Given the description of an element on the screen output the (x, y) to click on. 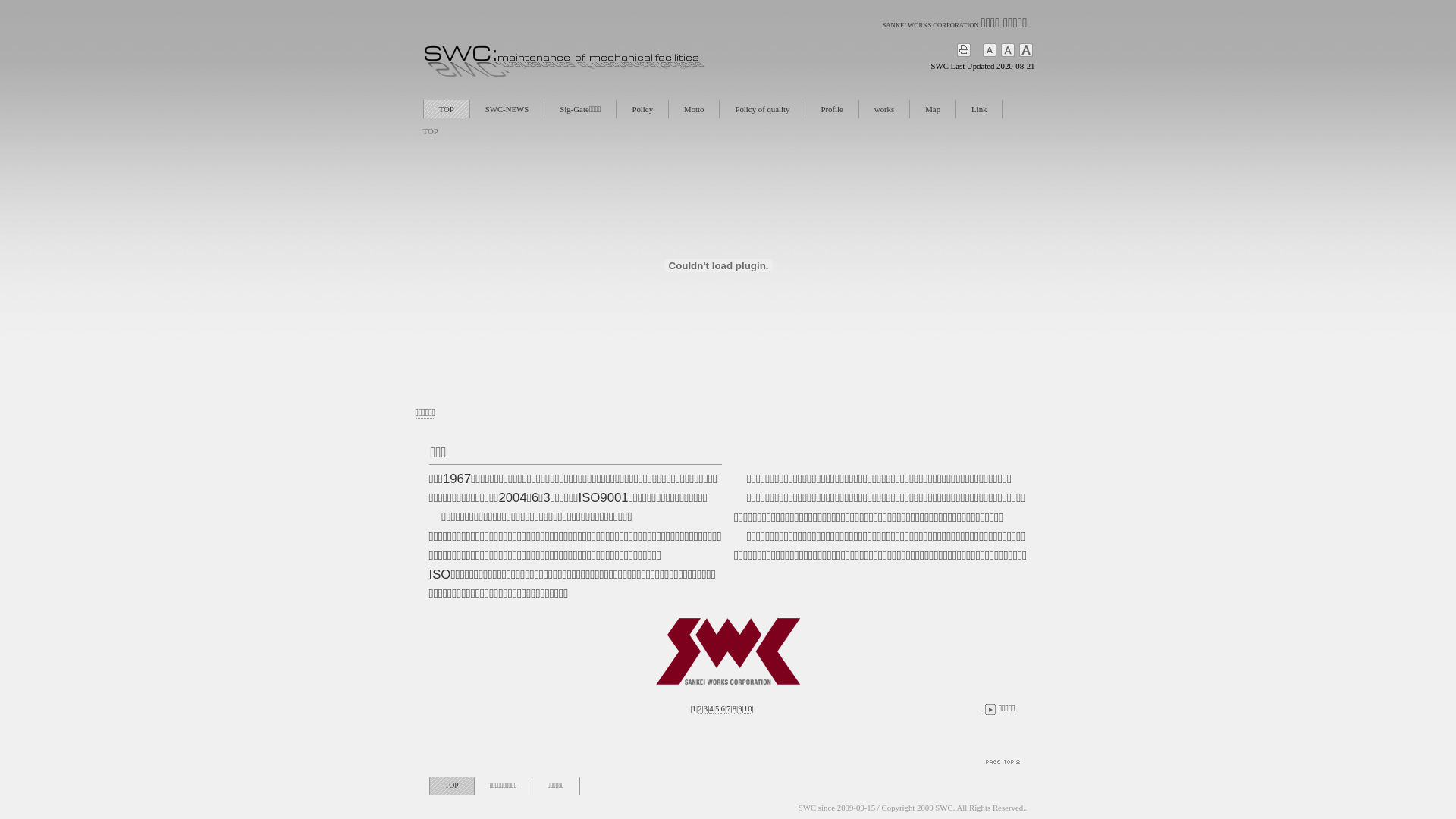
Motto Element type: text (693, 109)
2 Element type: text (699, 708)
Profile Element type: text (831, 109)
3 Element type: text (705, 708)
Link Element type: text (978, 109)
8 Element type: text (734, 708)
4 Element type: text (710, 708)
5 Element type: text (716, 708)
6 Element type: text (722, 708)
9 Element type: text (739, 708)
10 Element type: text (747, 708)
works Element type: text (884, 109)
7 Element type: text (728, 708)
SWC-NEWS Element type: text (507, 109)
Policy of quality Element type: text (761, 109)
Policy Element type: text (642, 109)
TOP Element type: text (445, 109)
Map Element type: text (932, 109)
TOP Element type: text (451, 785)
